Given the description of an element on the screen output the (x, y) to click on. 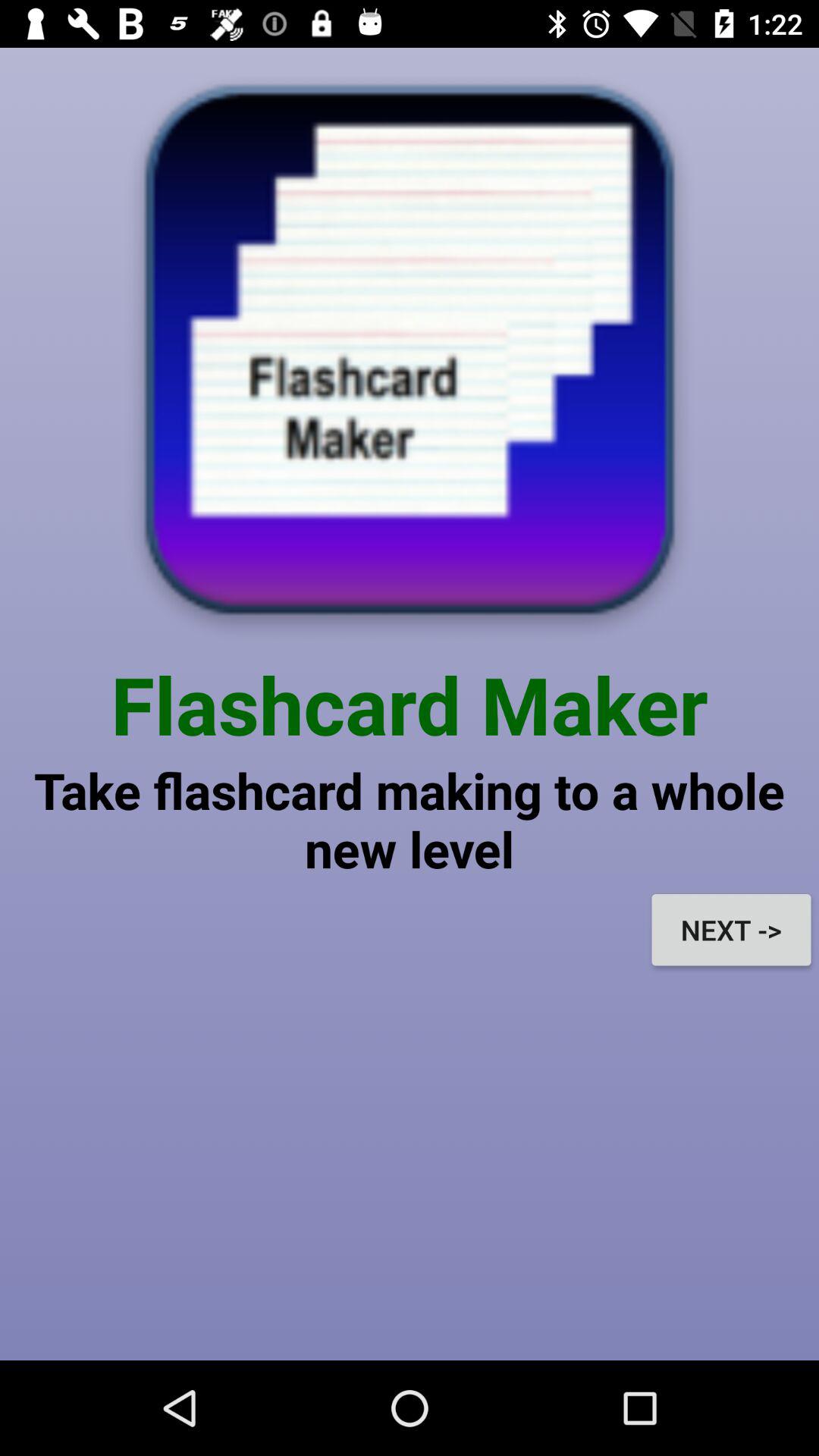
click the icon on the right (731, 929)
